Given the description of an element on the screen output the (x, y) to click on. 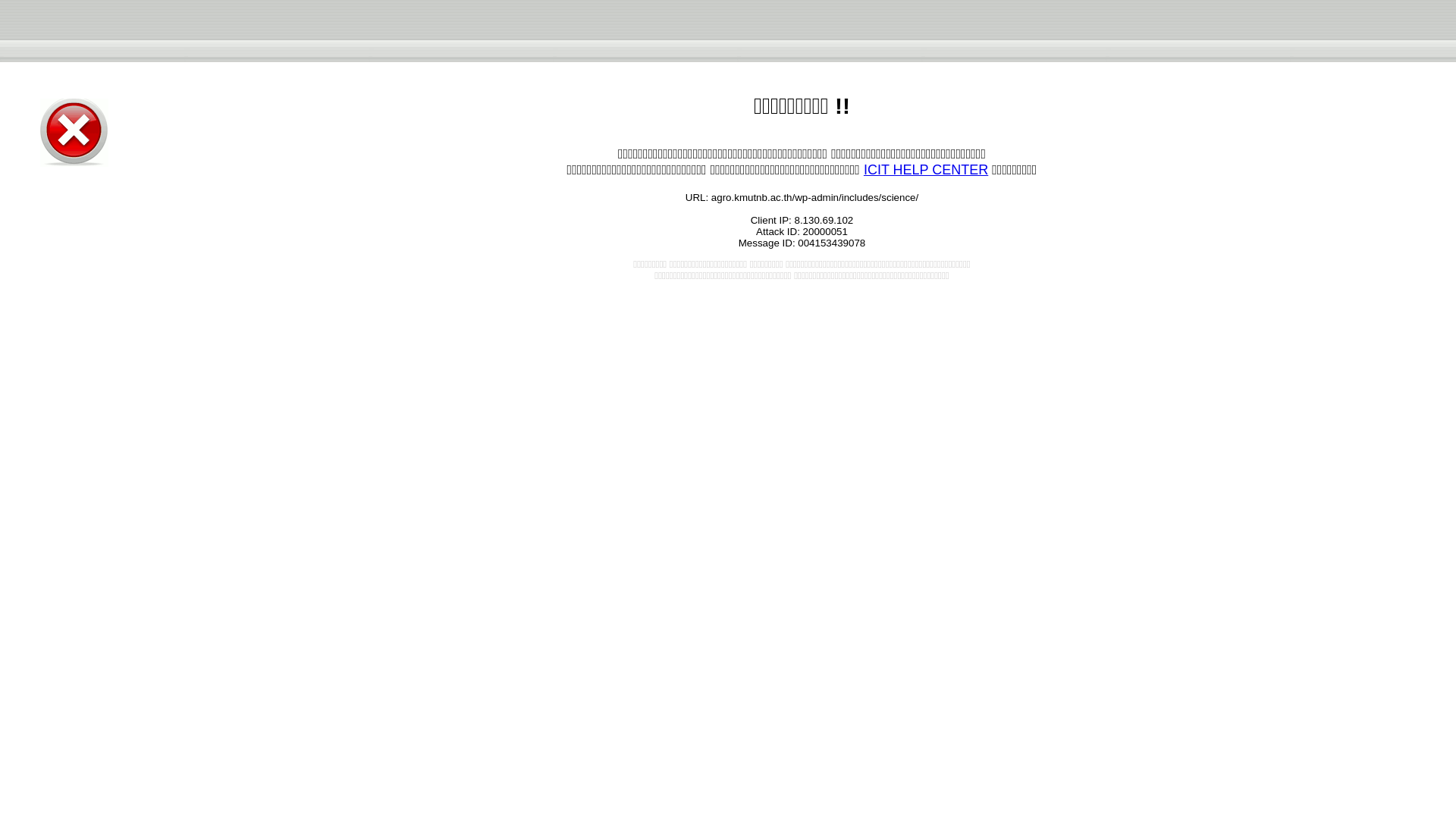
ICIT HELP CENTER (925, 169)
